Given the description of an element on the screen output the (x, y) to click on. 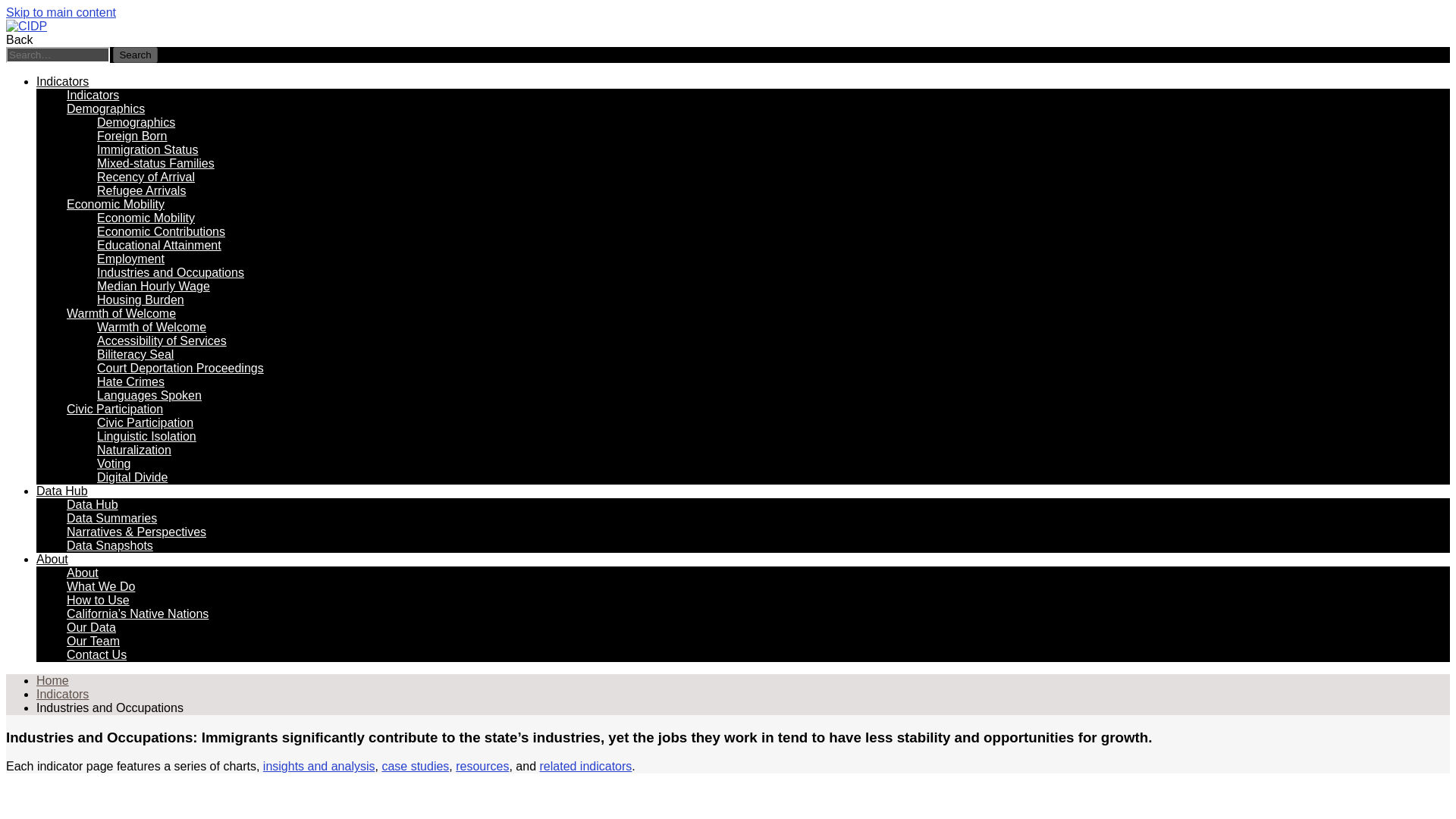
Warmth of Welcome (121, 313)
Demographics (105, 108)
Housing Burden (140, 299)
About (82, 572)
Indicators (92, 94)
Economic Mobility (115, 204)
Naturalization (134, 449)
Recency of Arrival (146, 176)
Median Hourly Wage (153, 286)
Refugee Arrivals (141, 190)
Court Deportation Proceedings (180, 367)
Accessibility of Services (162, 340)
Indicators (62, 81)
Data Summaries (111, 517)
Hate Crimes (130, 381)
